Given the description of an element on the screen output the (x, y) to click on. 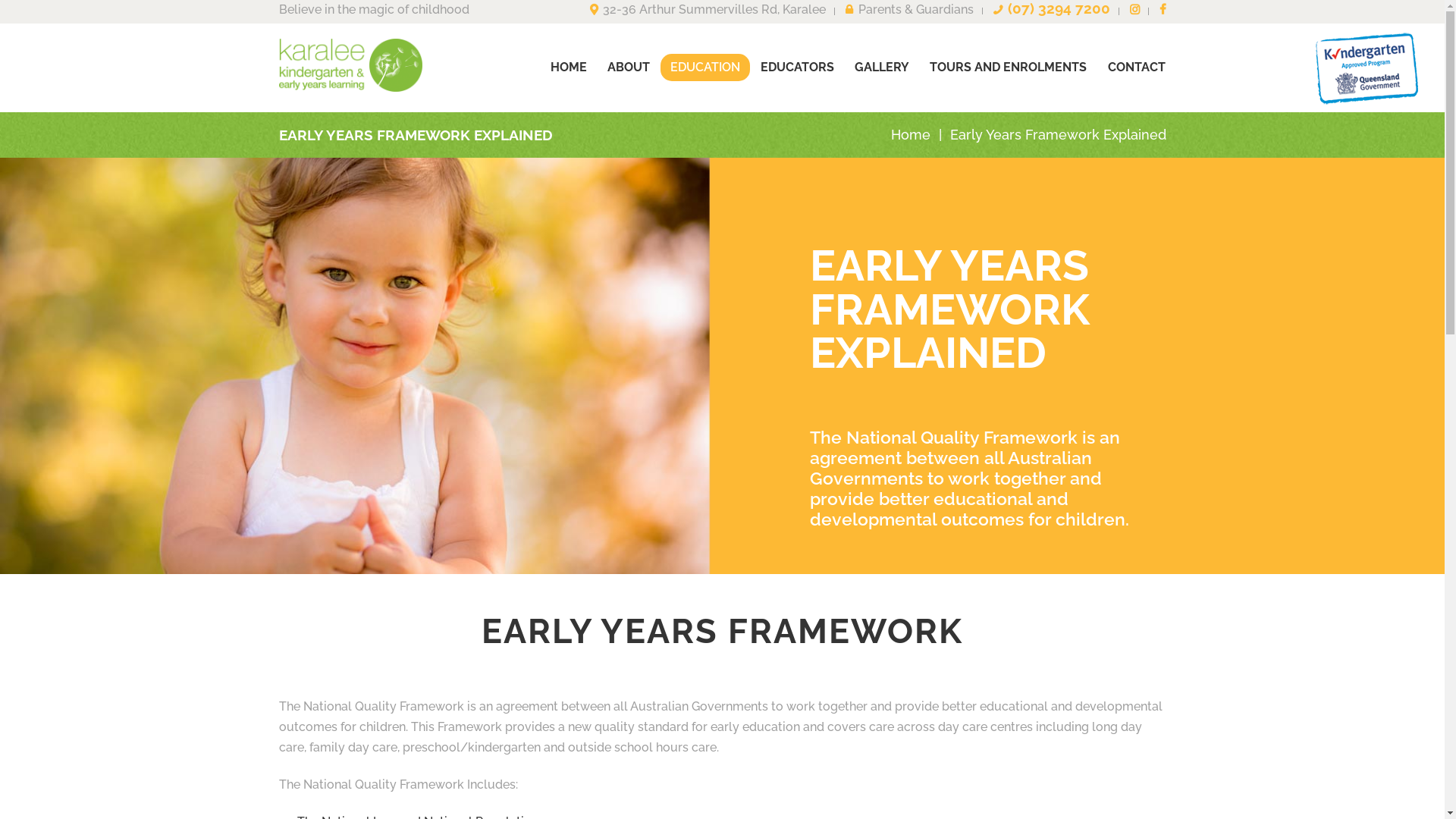
GALLERY Element type: text (882, 66)
(07) 3294 7200 Element type: text (1051, 9)
ABOUT Element type: text (627, 66)
Parents & Guardians Element type: text (909, 10)
EDUCATORS Element type: text (797, 66)
Home Element type: text (910, 134)
CONTACT Element type: text (1136, 66)
32-36 Arthur Summervilles Rd, Karalee Element type: text (707, 10)
HOME Element type: text (568, 66)
EDUCATION Element type: text (704, 66)
TOURS AND ENROLMENTS Element type: text (1008, 66)
